Given the description of an element on the screen output the (x, y) to click on. 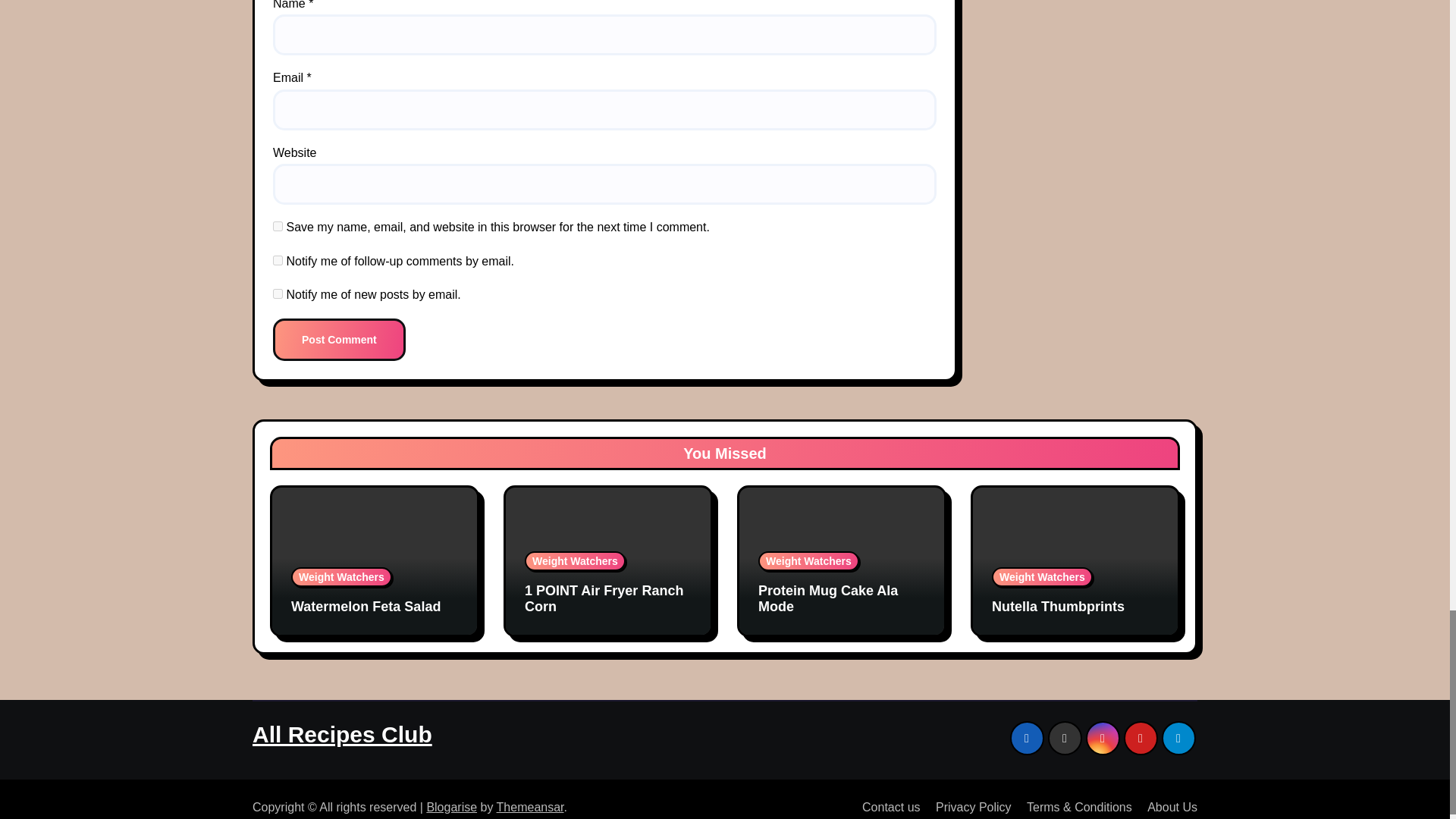
subscribe (277, 293)
Permalink to: Protein Mug Cake Ala Mode (828, 599)
Post Comment (339, 339)
Permalink to: 1 POINT Air Fryer Ranch Corn (603, 599)
subscribe (277, 260)
Contact us (885, 805)
Permalink to: Watermelon Feta Salad (366, 606)
yes (277, 225)
Permalink to: Nutella Thumbprints (1057, 606)
